Given the description of an element on the screen output the (x, y) to click on. 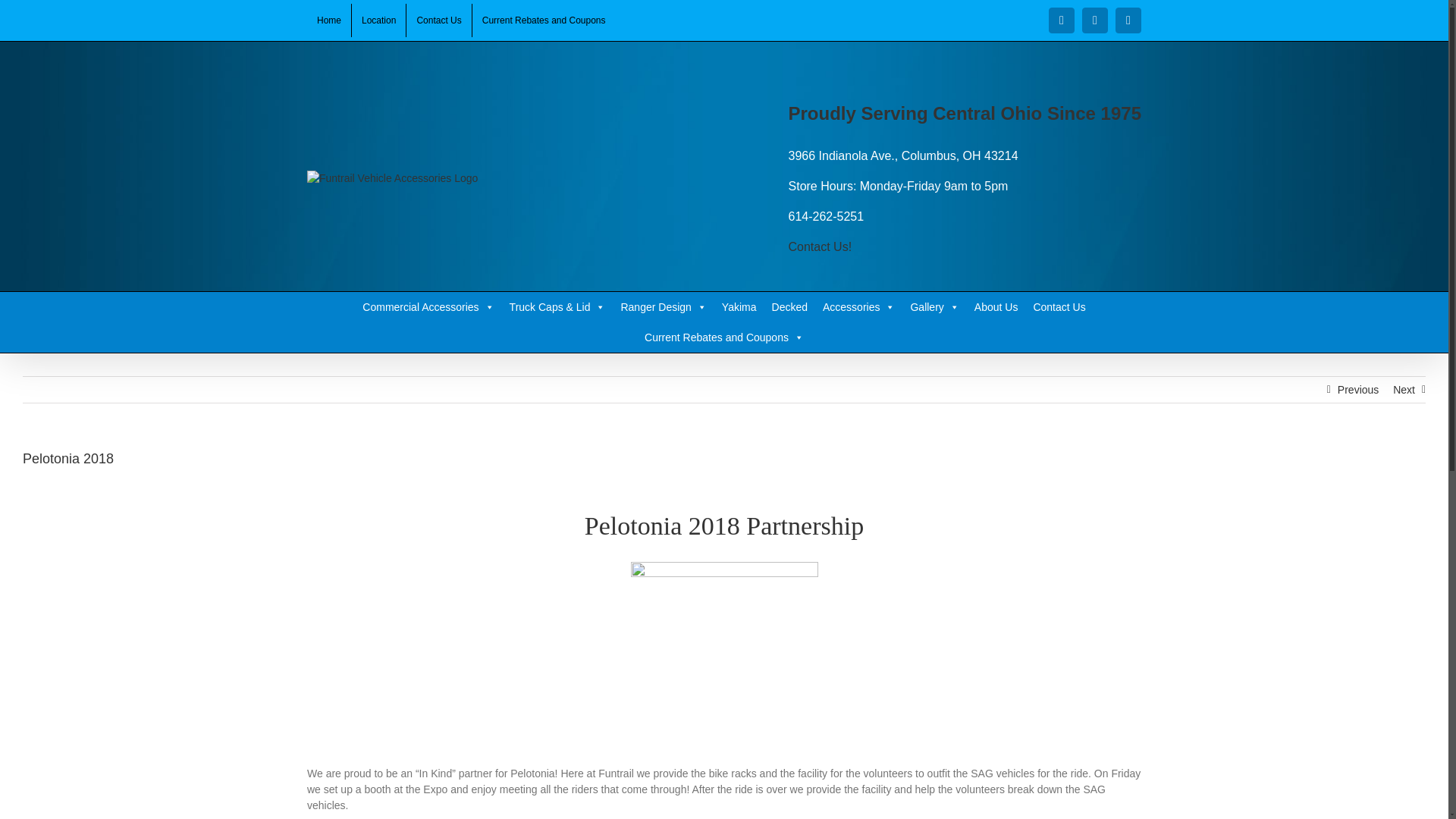
Contact Us (438, 20)
Facebook (1061, 20)
Home (328, 20)
Current Rebates and Coupons (543, 20)
Instagram (1128, 20)
Facebook (1061, 20)
Instagram (1128, 20)
Contact Us! (820, 246)
Twitter (1094, 20)
Location (379, 20)
